Given the description of an element on the screen output the (x, y) to click on. 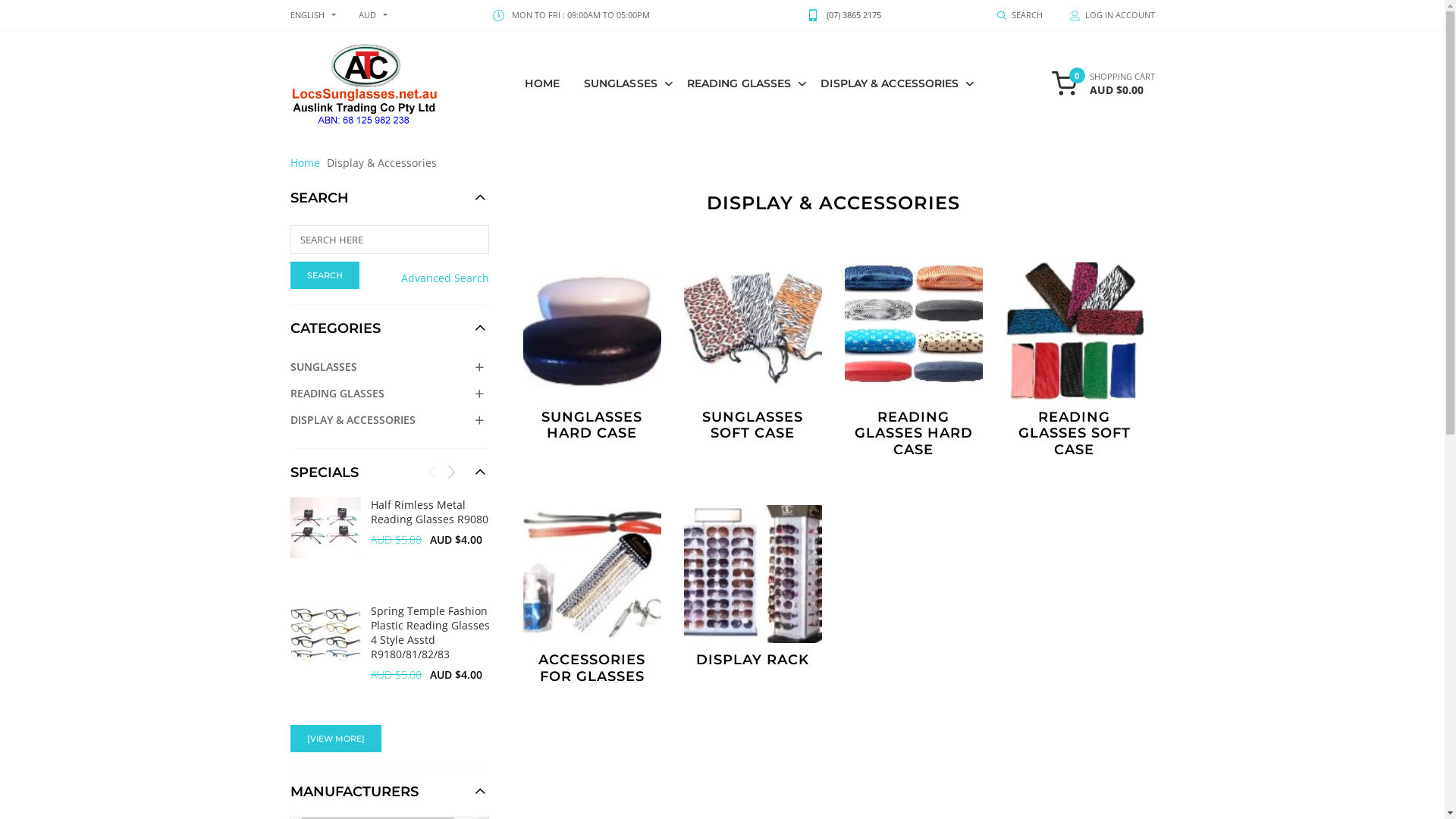
SUNGLASSES HARD CASE Element type: text (592, 352)
ACCESSORIES FOR GLASSES Element type: text (592, 594)
Sunglasses Soft Case Element type: hover (746, 324)
SEARCH Element type: text (1019, 15)
 Half Rimless Metal Reading Glasses R9080  Element type: hover (324, 527)
LOG IN ACCOUNT Element type: text (1104, 15)
SUNGLASSES SOFT CASE Element type: text (753, 352)
SUNGLASSES Element type: text (389, 366)
Reading Glasses Hard Case Element type: hover (906, 324)
READING GLASSES HARD CASE Element type: text (913, 360)
READING GLASSES Element type: text (389, 392)
Search Element type: text (323, 274)
Reading Glasses Soft Case Element type: hover (1067, 324)
Next Element type: text (450, 471)
[VIEW MORE] Element type: text (334, 738)
Home Element type: text (304, 162)
DISPLAY RACK Element type: text (753, 586)
DISPLAY & ACCESSORIES Element type: text (389, 419)
Half Rimless Metal Reading Glasses R9080 Element type: text (428, 511)
Advanced Search Element type: text (445, 278)
AUD Element type: text (366, 15)
READING GLASSES SOFT CASE Element type: text (1074, 360)
HOME Element type: text (541, 83)
0
SHOPPING CART
AUD $0.00 Element type: text (1102, 83)
Accessories for Glasses Element type: hover (585, 567)
Previous Element type: text (431, 471)
ENGLISH Element type: text (306, 15)
DISPLAY & ACCESSORIES Element type: text (893, 83)
READING GLASSES Element type: text (743, 83)
SUNGLASSES Element type: text (624, 83)
Sunglasses Hard Case Element type: hover (585, 324)
Display Rack Element type: hover (746, 567)
